Given the description of an element on the screen output the (x, y) to click on. 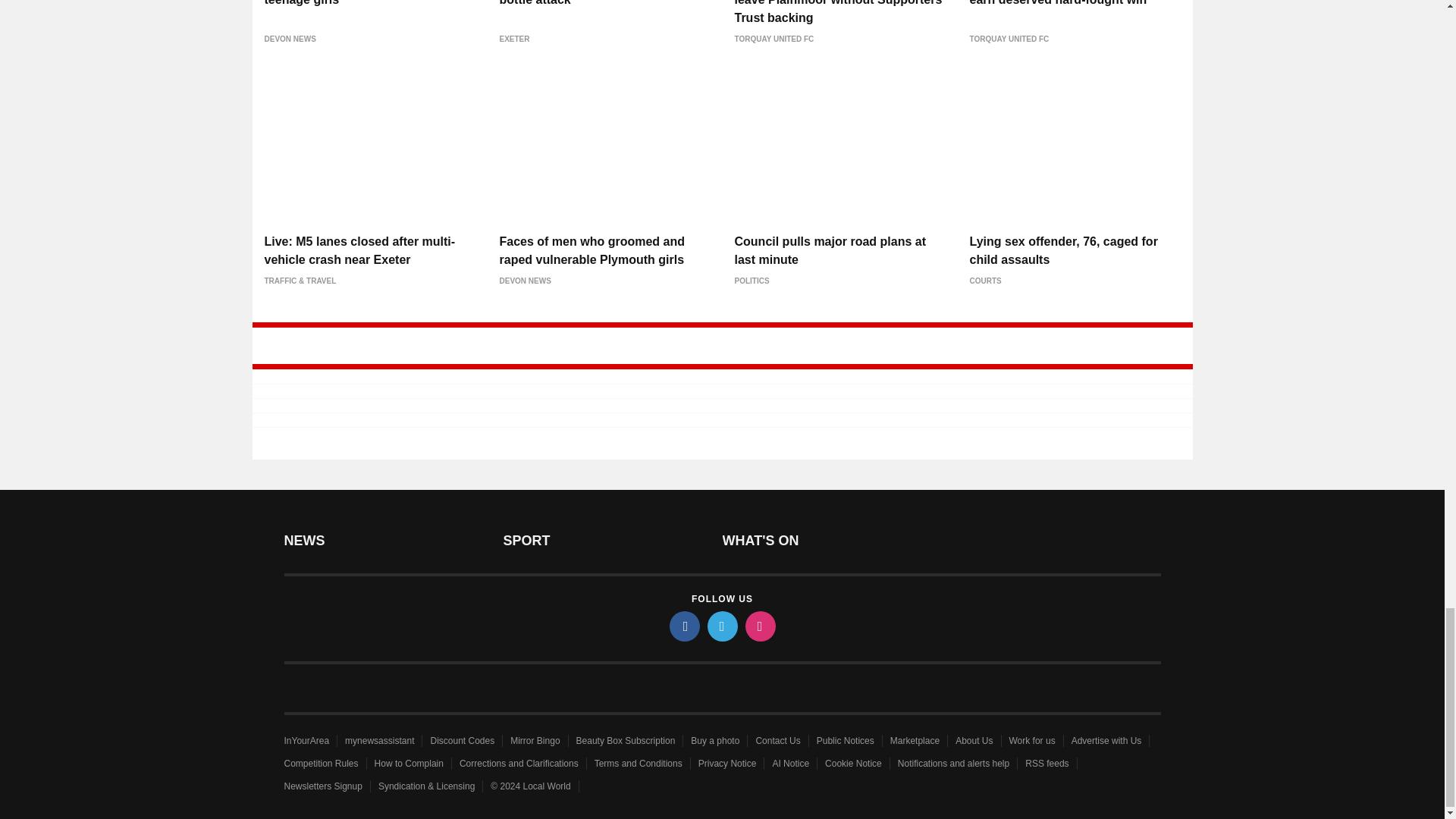
instagram (759, 625)
twitter (721, 625)
facebook (683, 625)
